Given the description of an element on the screen output the (x, y) to click on. 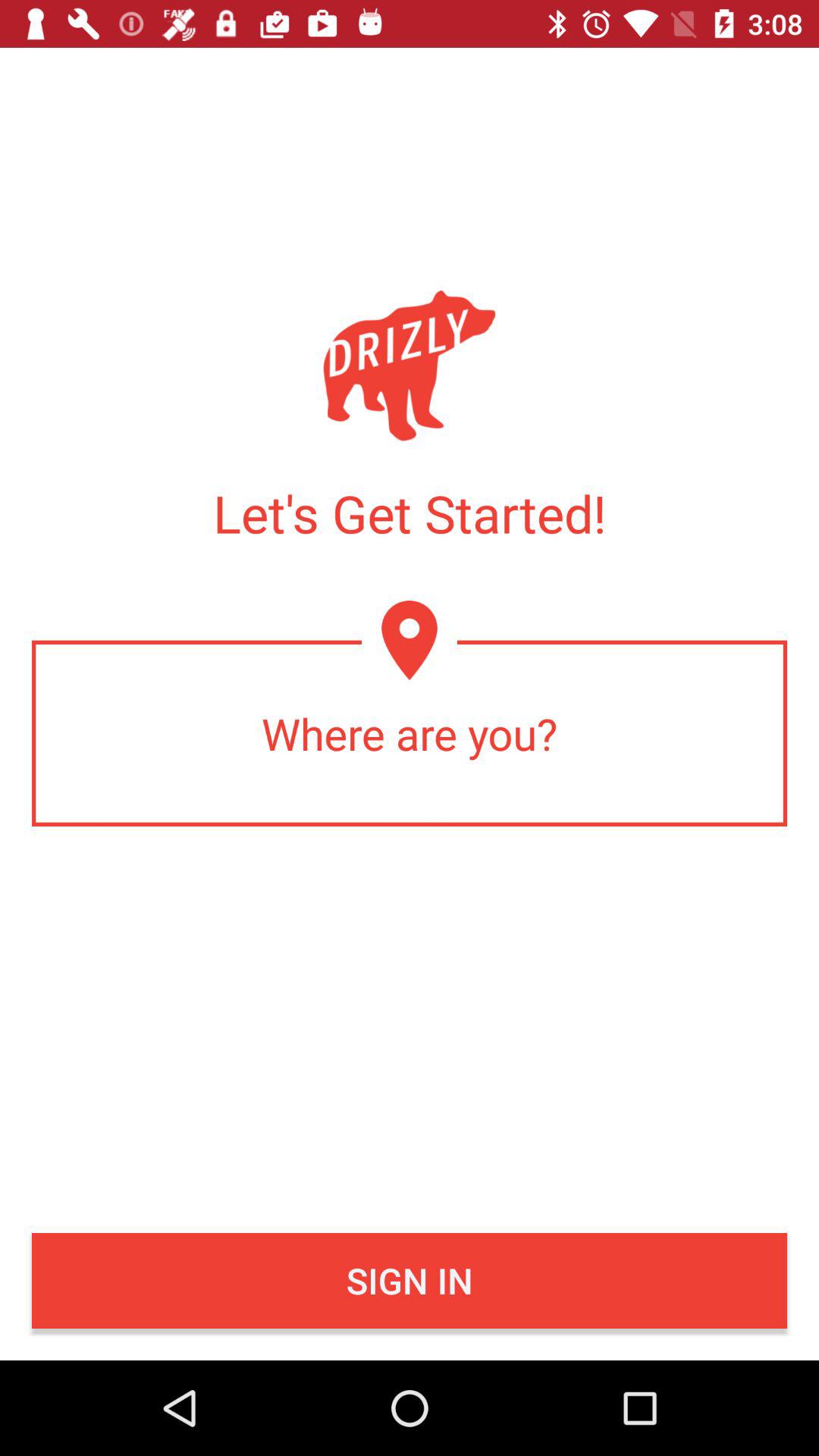
press the sign in icon (409, 1280)
